Given the description of an element on the screen output the (x, y) to click on. 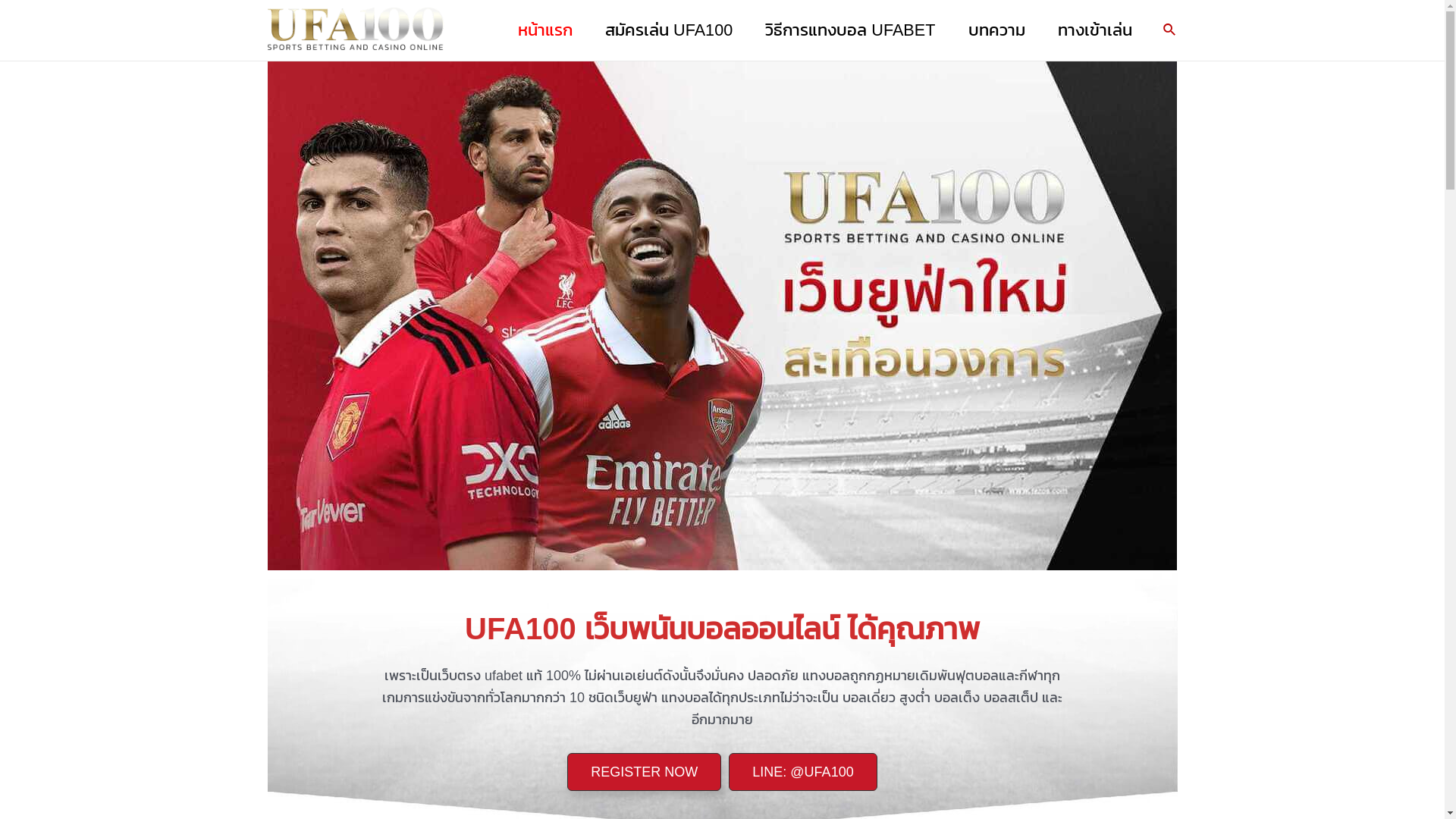
LINE: @UFA100 Element type: text (802, 771)
Search Element type: text (1169, 30)
REGISTER NOW Element type: text (644, 771)
